Given the description of an element on the screen output the (x, y) to click on. 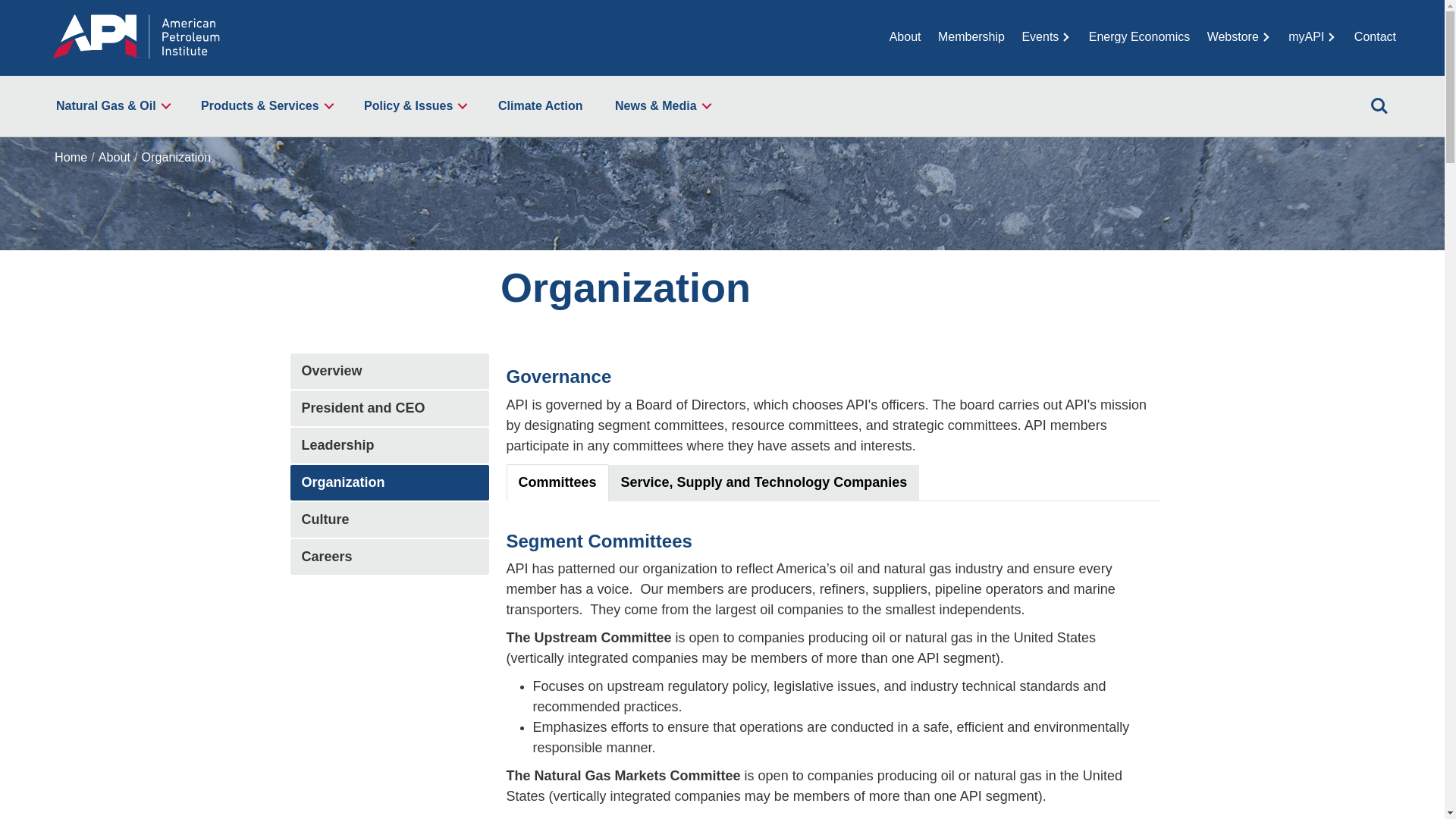
Webstore (1239, 36)
Events (1046, 36)
Contact (1375, 36)
Energy Economics (1139, 36)
Membership (970, 36)
myAPI (1312, 36)
About (905, 36)
